Given the description of an element on the screen output the (x, y) to click on. 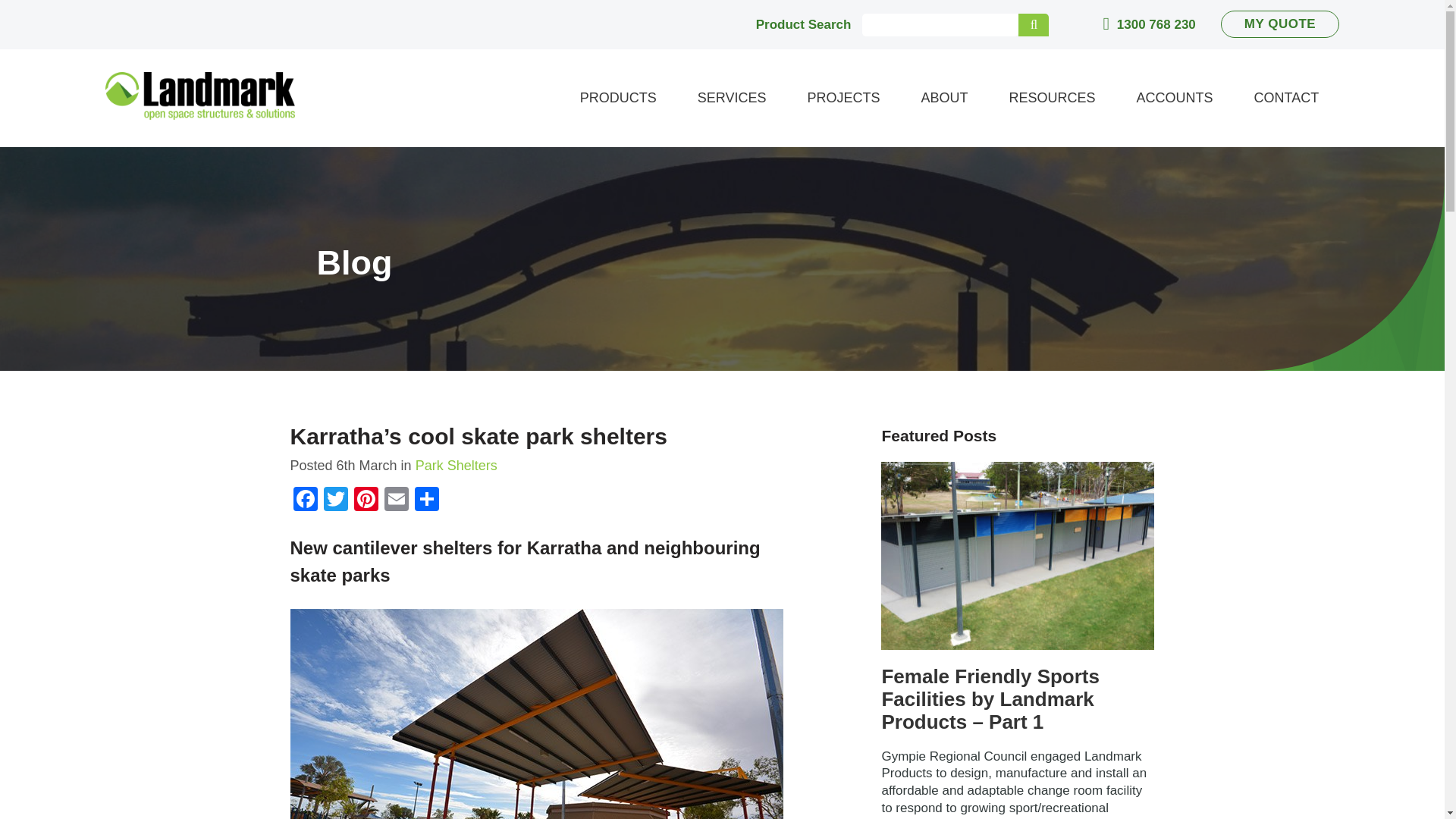
Facebook (304, 500)
Email (395, 500)
Pinterest (365, 500)
Twitter (335, 500)
